Given the description of an element on the screen output the (x, y) to click on. 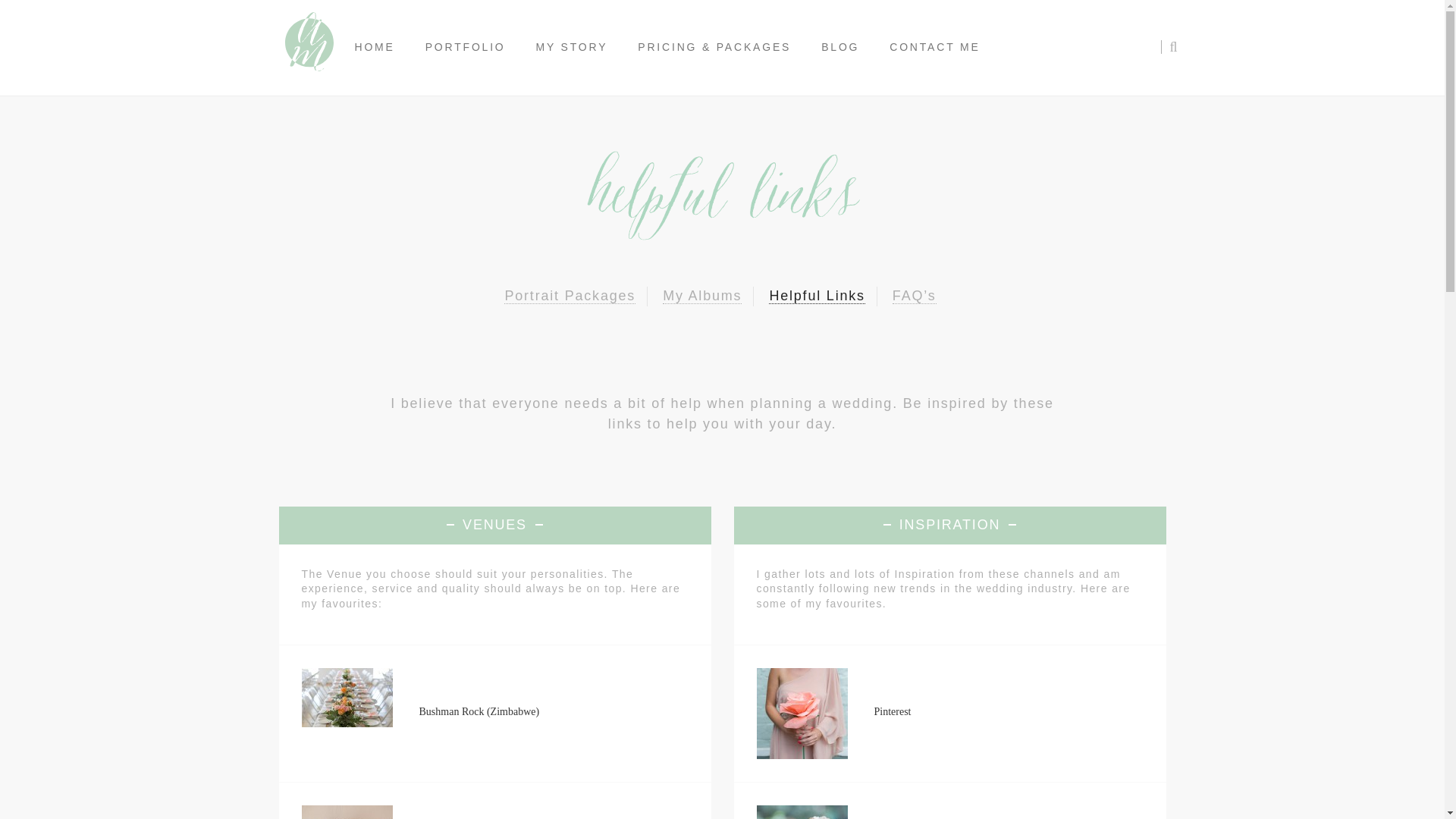
Contact Me (934, 47)
Portrait Packages (568, 295)
Helpful Links (816, 295)
Helpful Links (816, 295)
CONTACT ME (934, 47)
MY STORY (572, 47)
My Albums (701, 295)
My Story (572, 47)
Portrait Packages (568, 295)
My Albums (701, 295)
PORTFOLIO (465, 47)
Pinterest (892, 711)
Portfolio (465, 47)
FAQ's (914, 295)
